Given the description of an element on the screen output the (x, y) to click on. 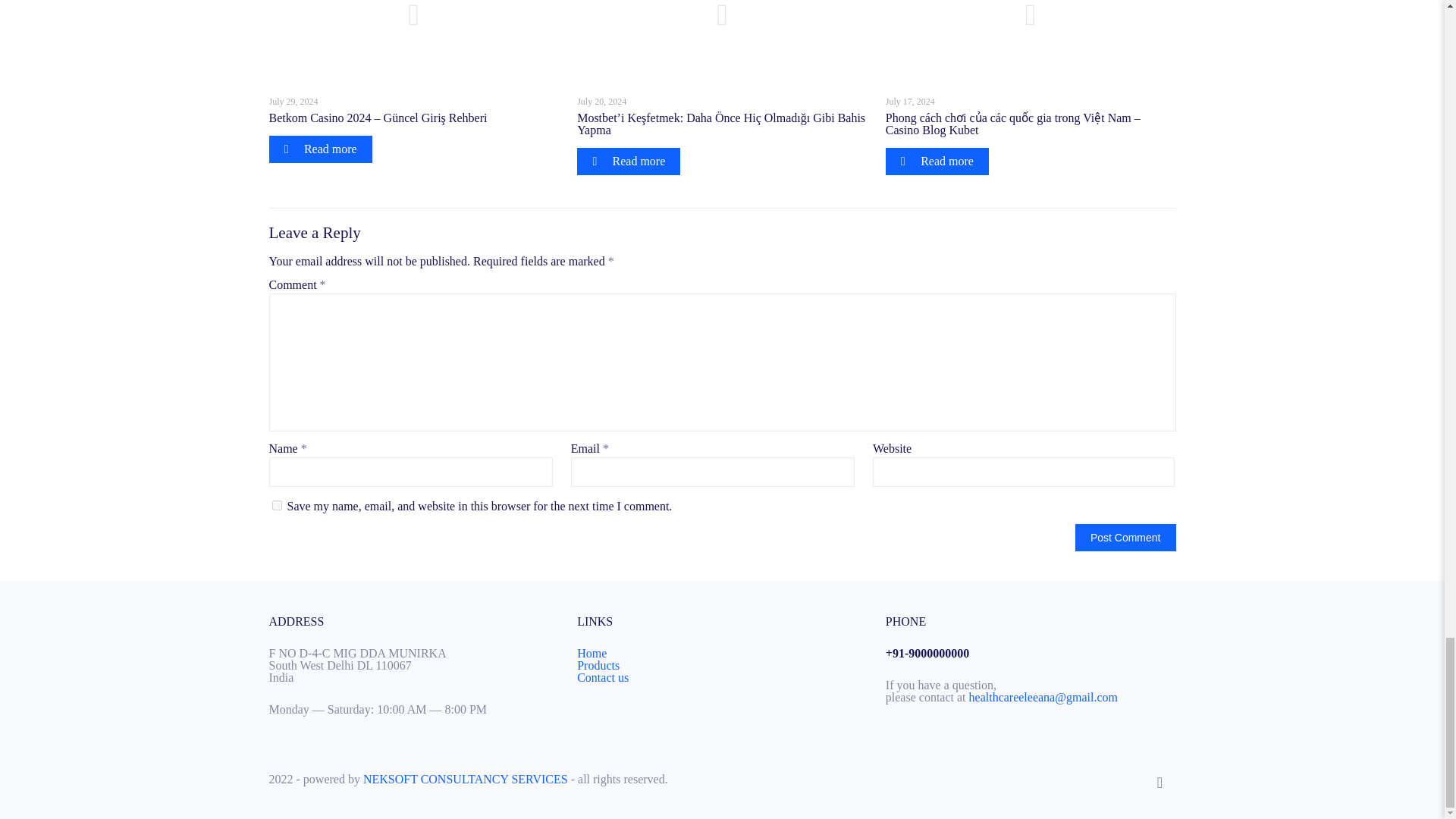
Post Comment (1125, 537)
Facebook (1079, 779)
yes (275, 505)
Instagram (1121, 779)
Twitter (1100, 779)
